Given the description of an element on the screen output the (x, y) to click on. 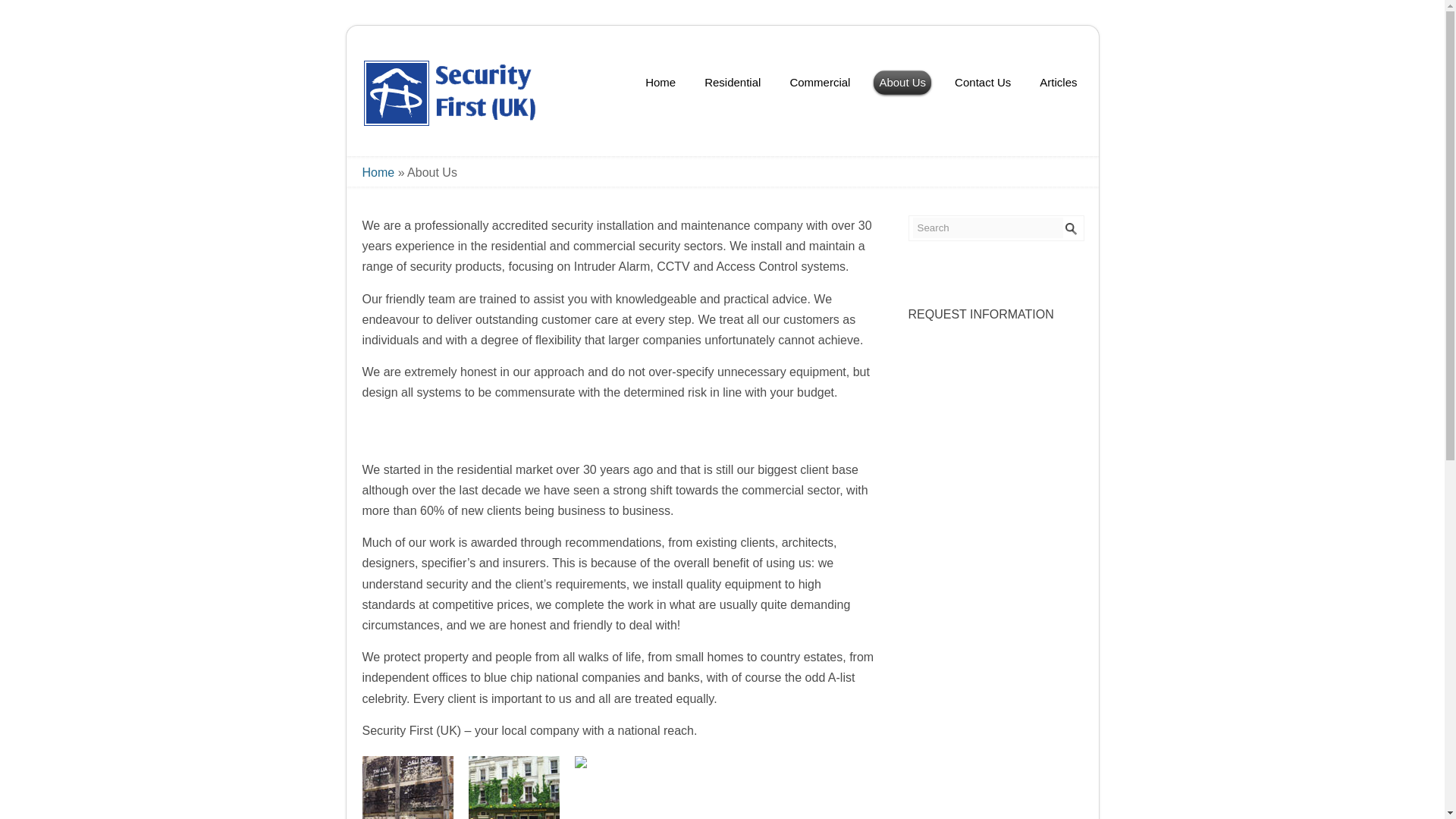
Search (987, 227)
Home (660, 83)
Contact Us (982, 83)
Commercial (820, 83)
Residential (731, 83)
About Us (902, 83)
REQUEST INFORMATION (981, 314)
Articles (1057, 83)
Booking Form (981, 314)
About Us 2 (513, 787)
